Given the description of an element on the screen output the (x, y) to click on. 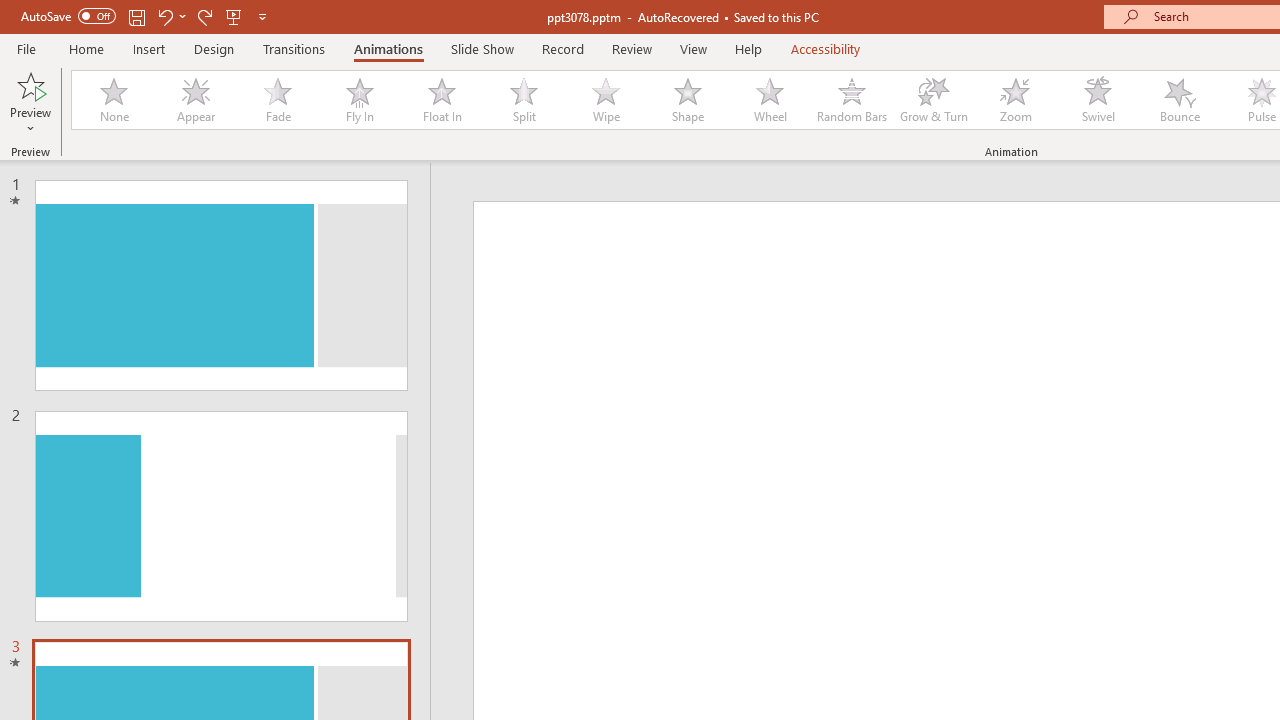
Split (523, 100)
Random Bars (852, 100)
Bounce (1180, 100)
Fly In (359, 100)
Grow & Turn (934, 100)
